Given the description of an element on the screen output the (x, y) to click on. 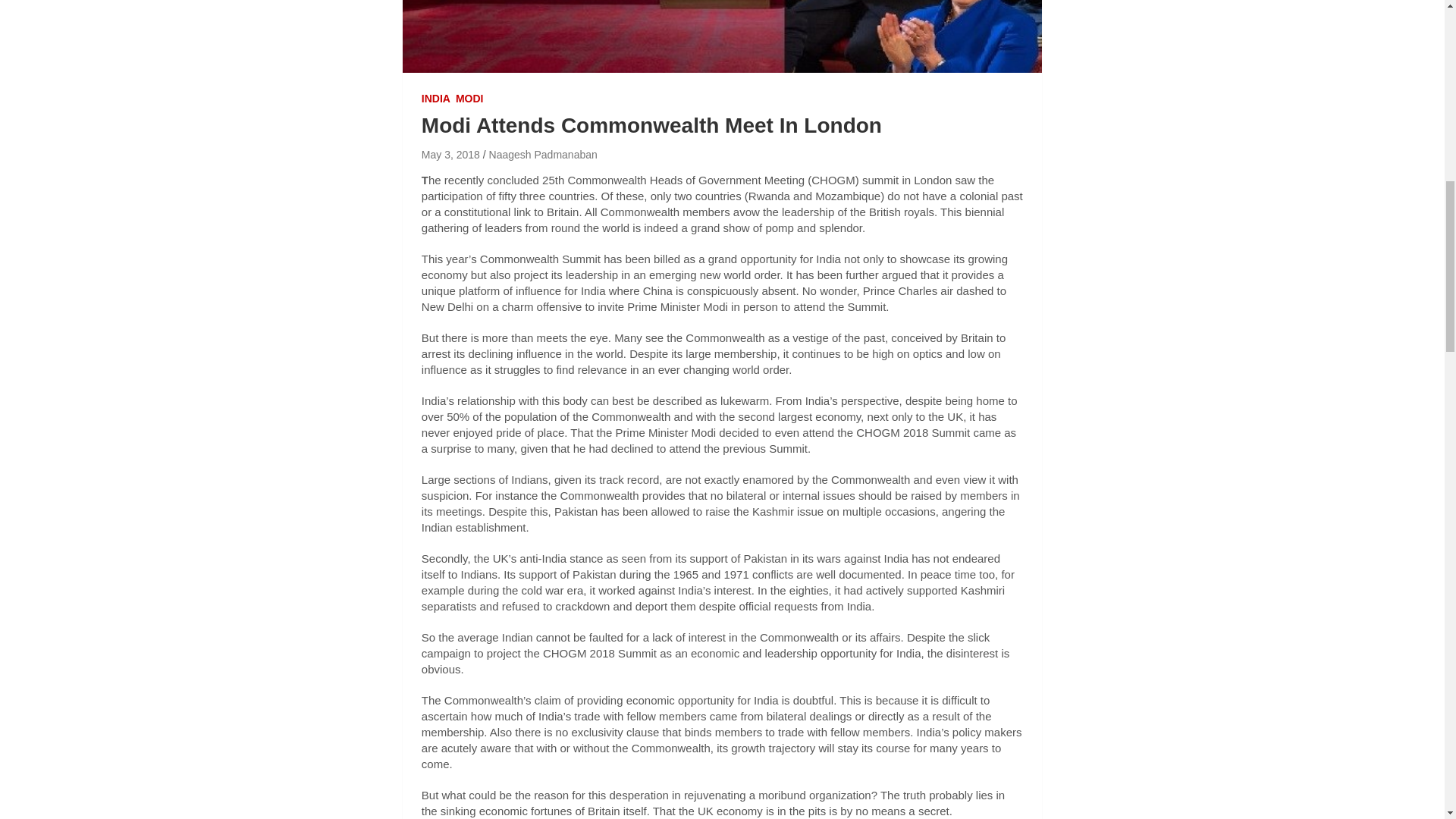
May 3, 2018 (451, 154)
INDIA (435, 99)
Modi Attends Commonwealth Meet In London (451, 154)
Naagesh Padmanaban (542, 154)
MODI (469, 99)
